Given the description of an element on the screen output the (x, y) to click on. 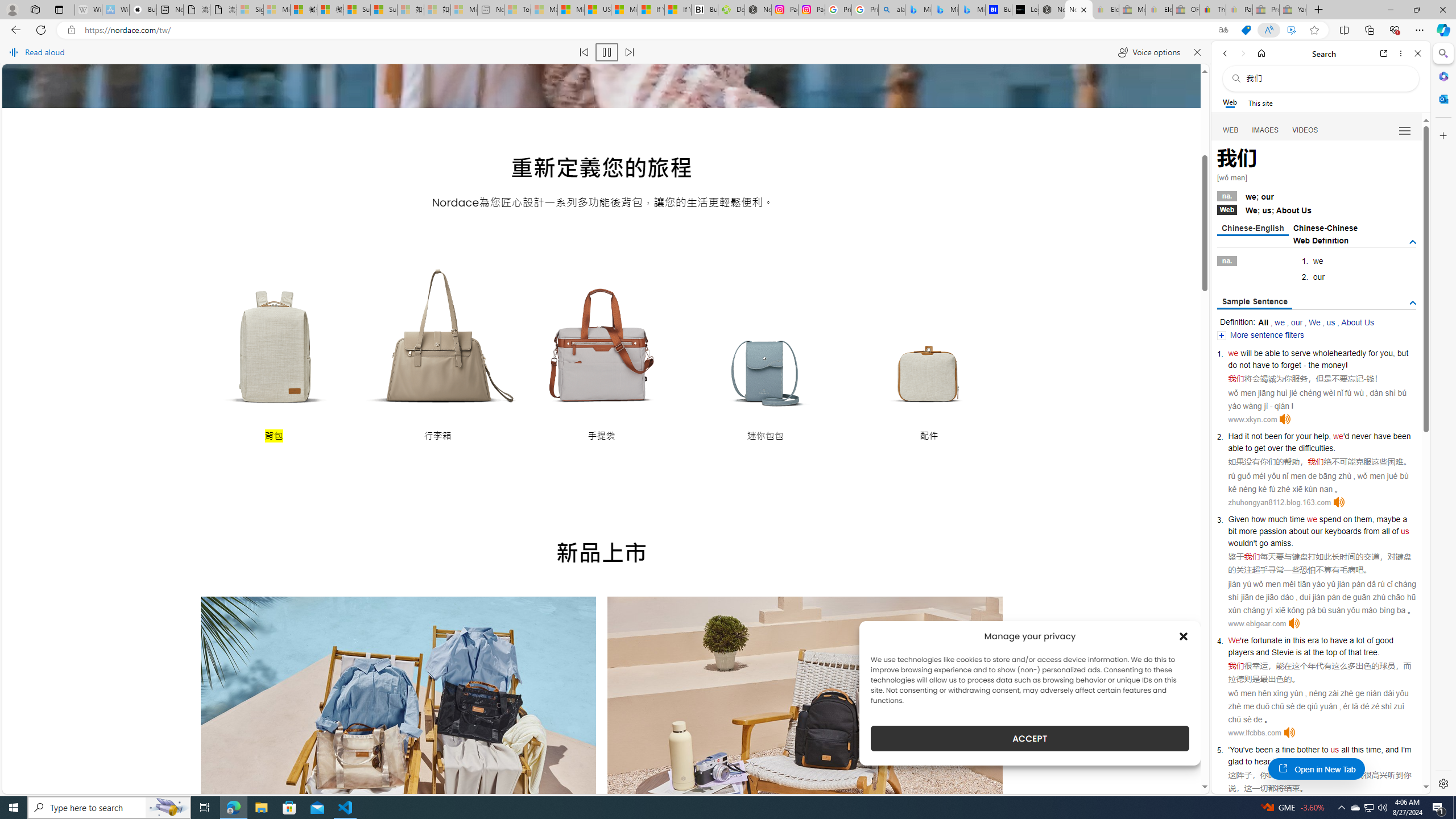
lot (1360, 640)
Enhance video (1291, 29)
ACCEPT (1029, 738)
Yard, Garden & Outdoor Living - Sleeping (1292, 9)
a bit (1316, 524)
Click to listen (1289, 732)
Marine life - MSN - Sleeping (543, 9)
